Given the description of an element on the screen output the (x, y) to click on. 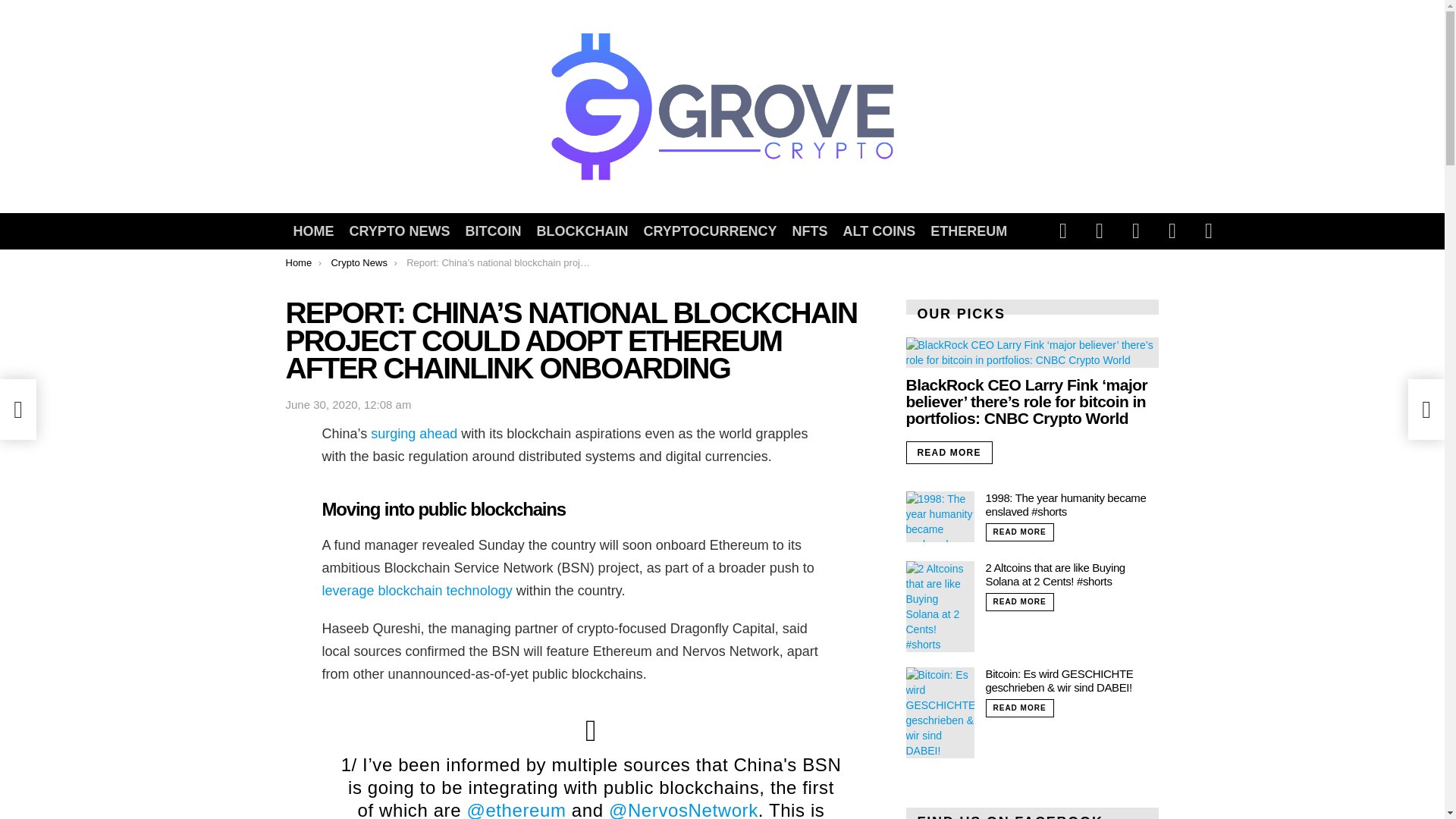
pinterest (1172, 230)
CRYPTO NEWS (398, 231)
youtube (1209, 230)
Home (298, 262)
ETHEREUM (968, 231)
HOME (312, 231)
surging ahead (414, 433)
NFTS (809, 231)
BLOCKCHAIN (582, 231)
ALT COINS (879, 231)
Crypto News (358, 262)
CRYPTOCURRENCY (710, 231)
facebook (1063, 230)
leverage blockchain technology (416, 590)
BITCOIN (493, 231)
